Given the description of an element on the screen output the (x, y) to click on. 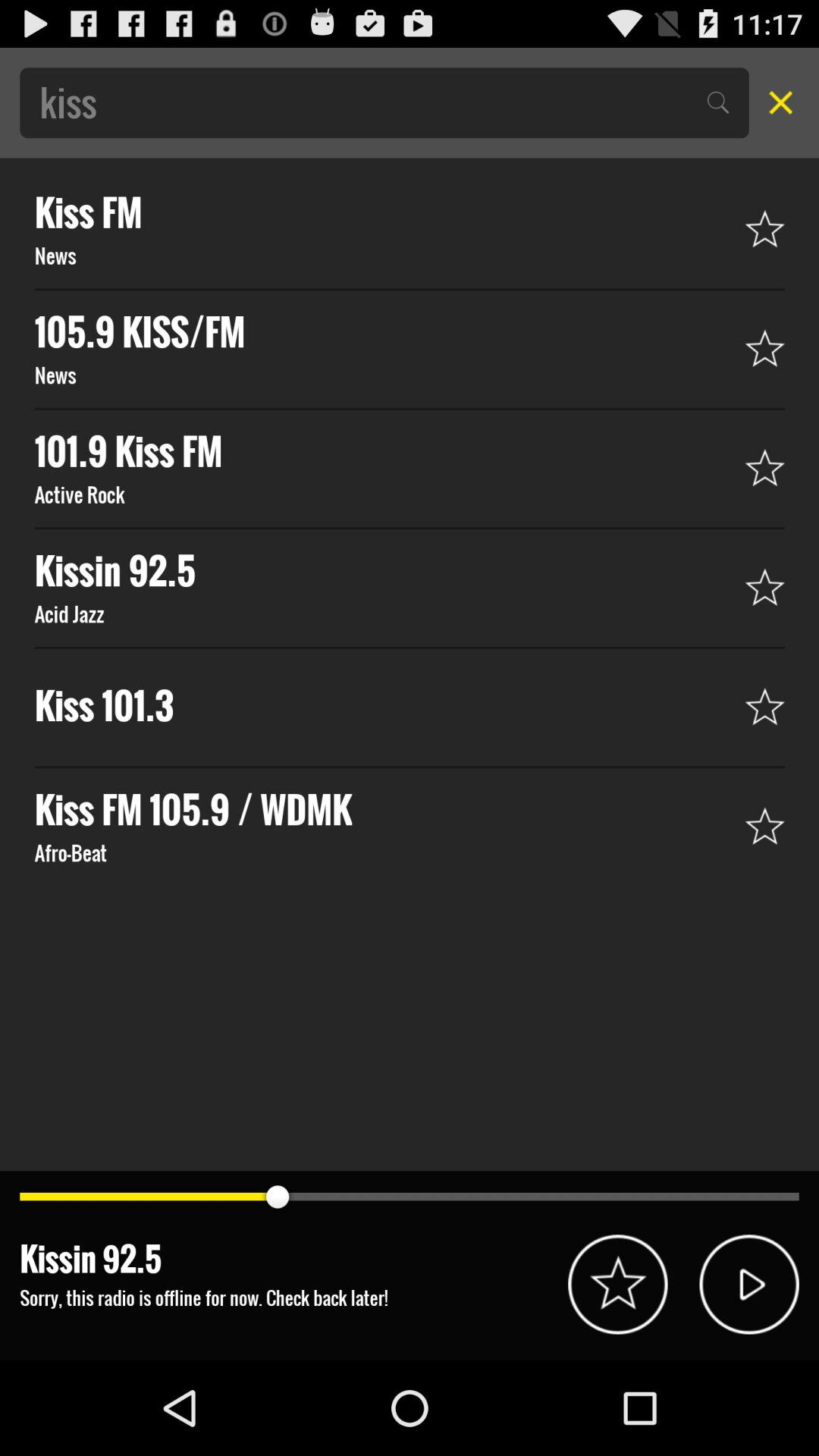
add to favorites (617, 1284)
